Given the description of an element on the screen output the (x, y) to click on. 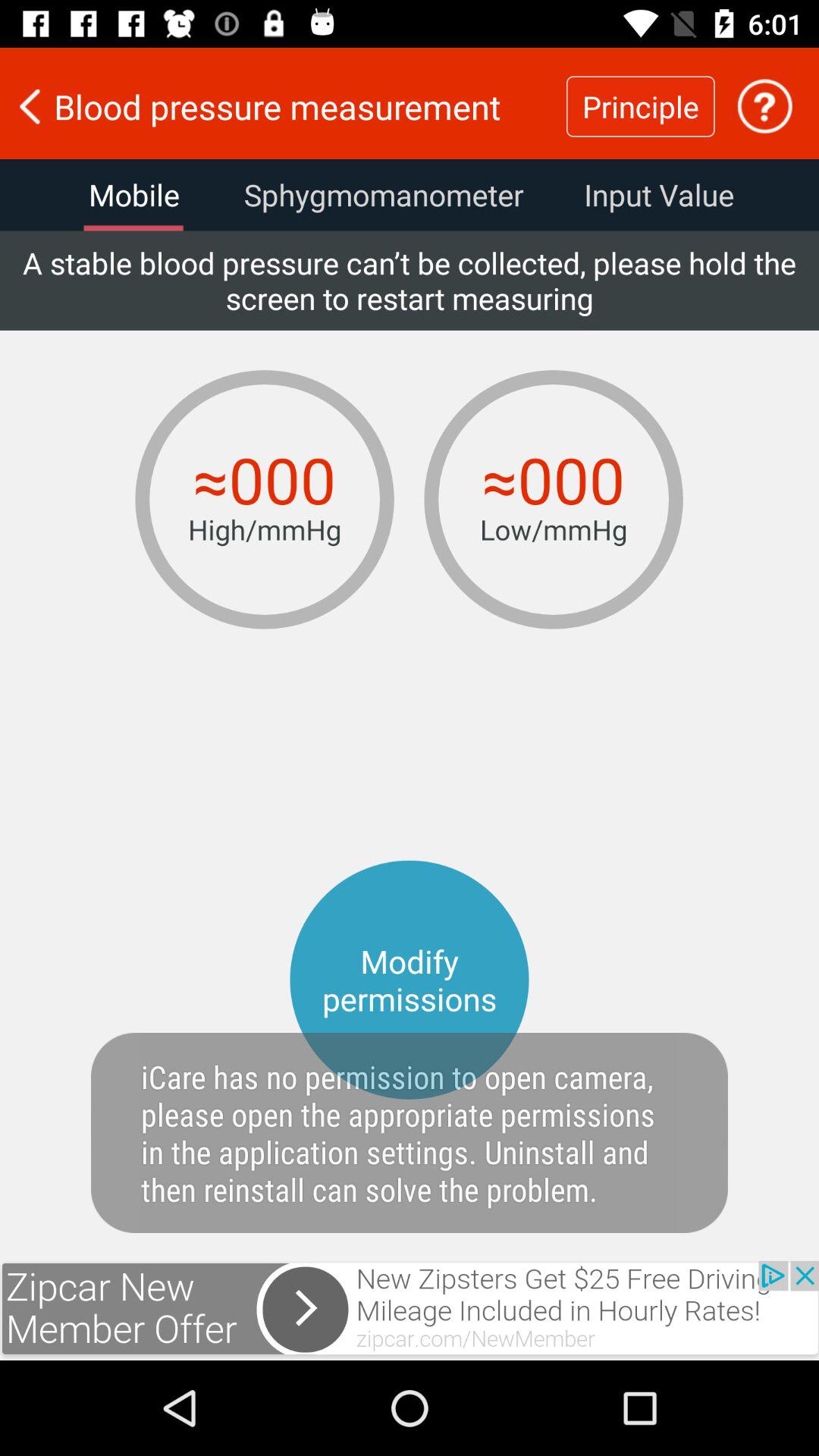
select advertisement (409, 1310)
